Given the description of an element on the screen output the (x, y) to click on. 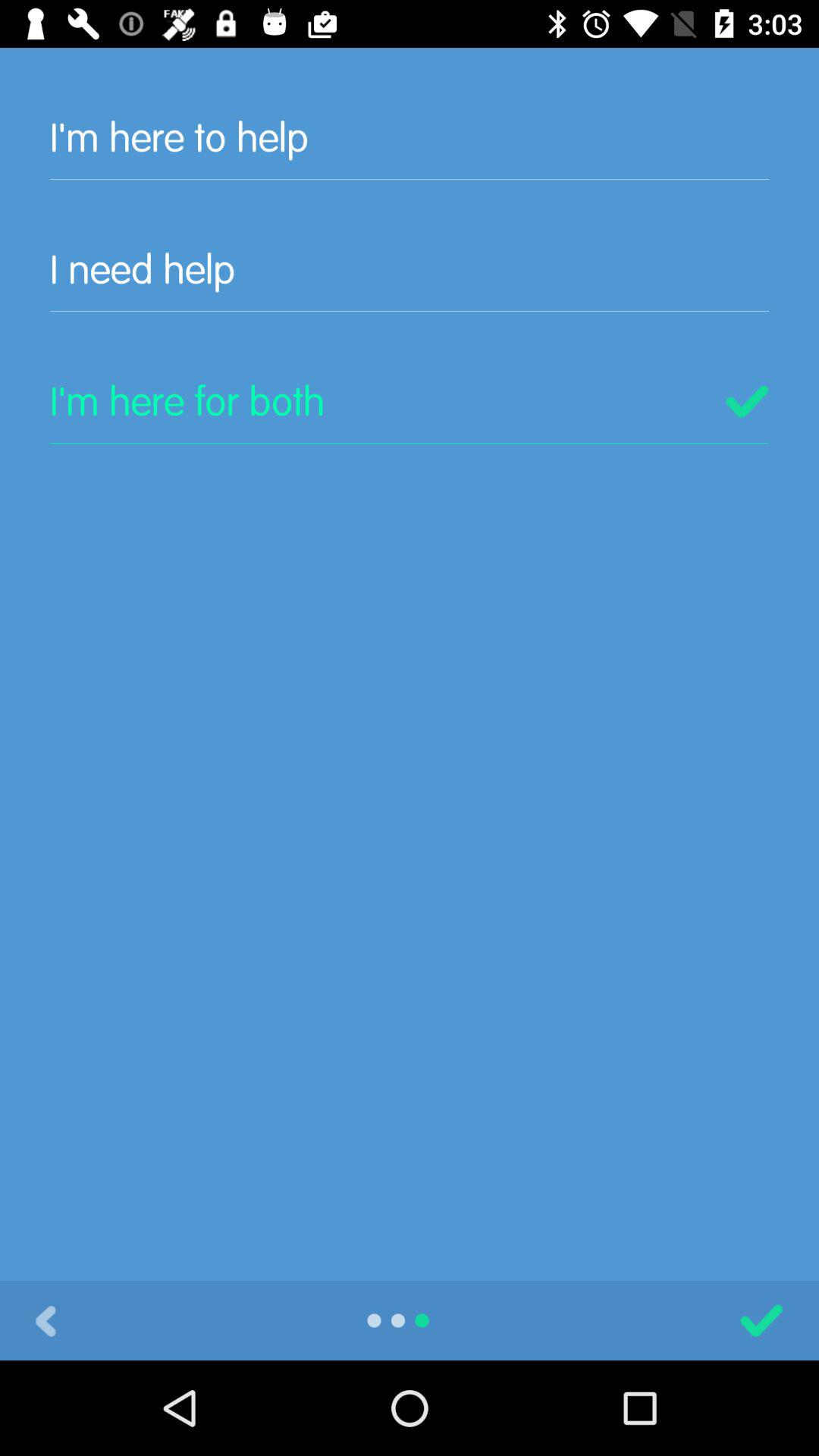
click the item at the bottom left corner (45, 1320)
